Given the description of an element on the screen output the (x, y) to click on. 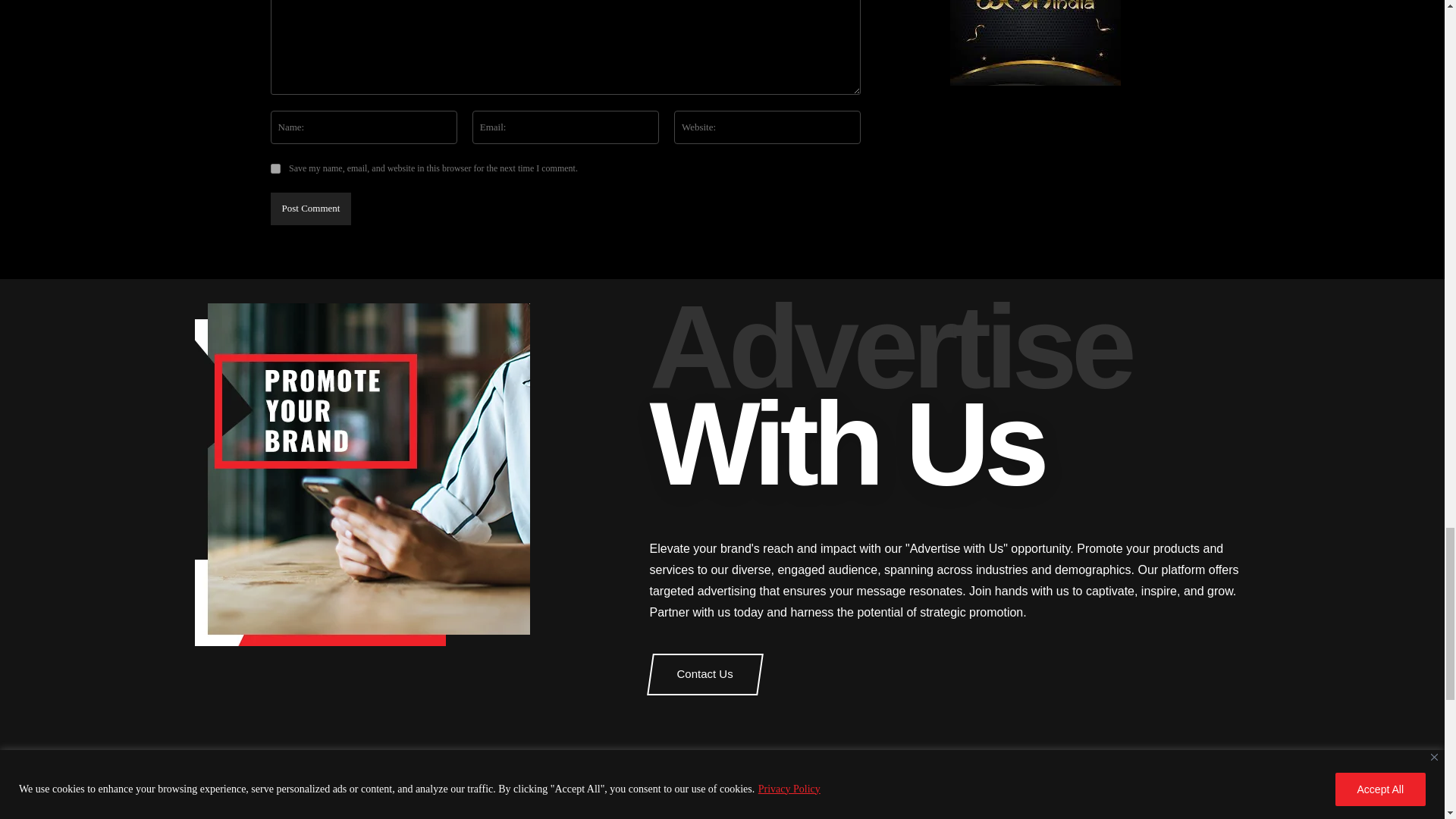
Post Comment (309, 208)
yes (274, 168)
